Given the description of an element on the screen output the (x, y) to click on. 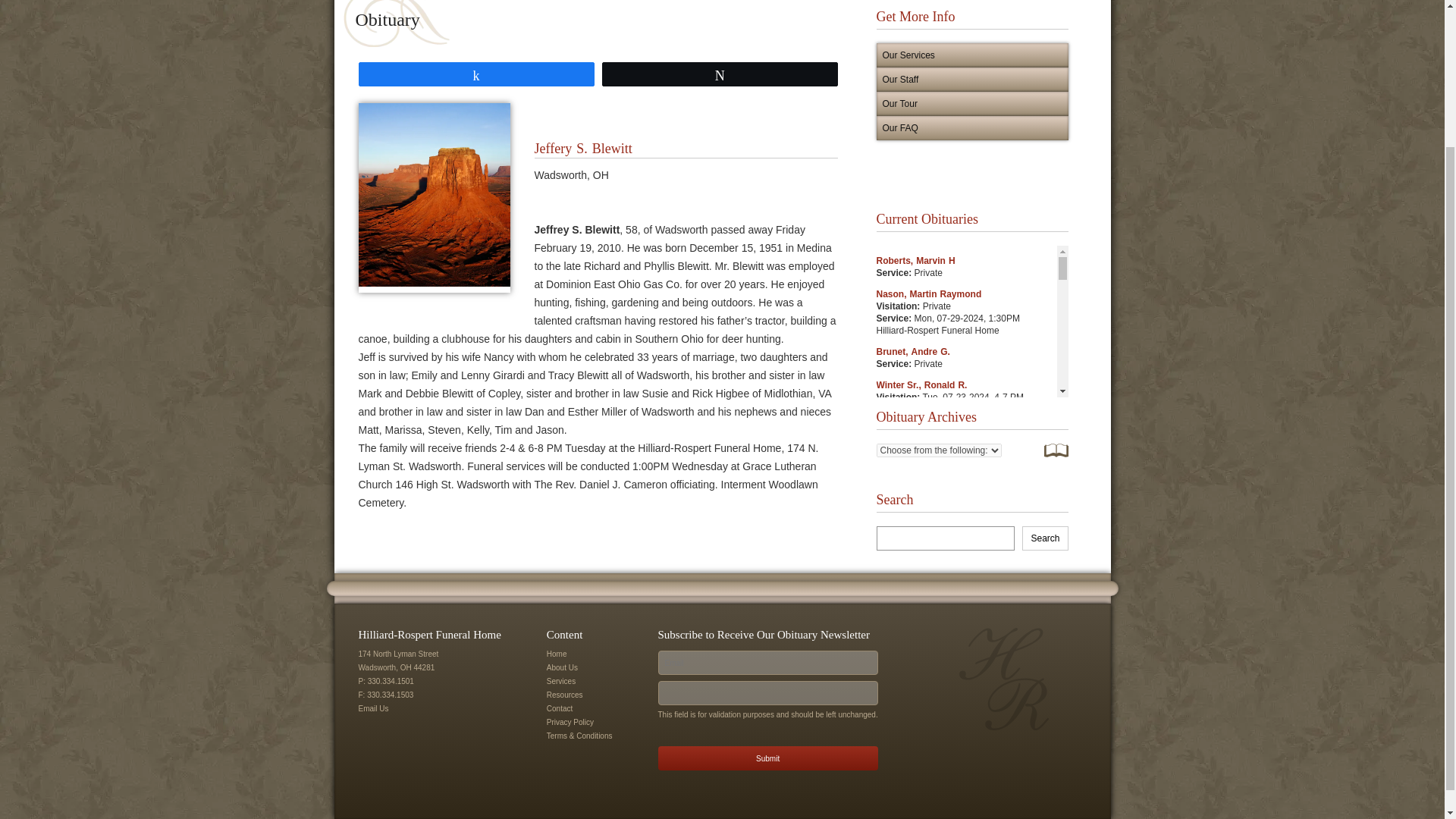
Our Services (972, 55)
Our Tour (972, 103)
Our Staff (972, 79)
Submit (767, 758)
Our FAQ (972, 128)
